Given the description of an element on the screen output the (x, y) to click on. 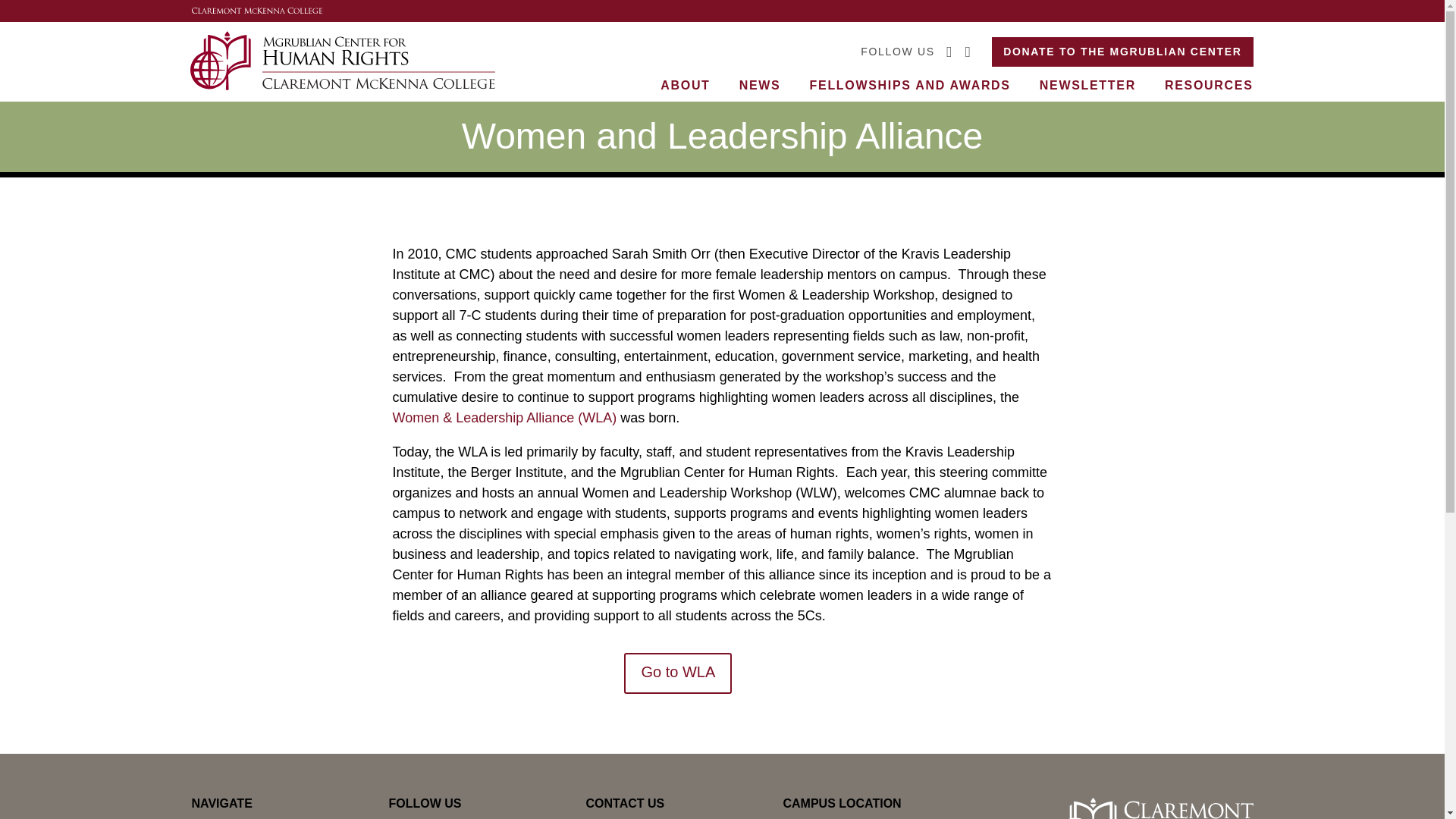
NEWS (759, 84)
ABOUT (685, 84)
Women and Leadership Alliance (505, 421)
RESOURCES (1208, 84)
DONATE TO THE MGRUBLIAN CENTER (1121, 51)
Go to WLA (678, 672)
NEWSLETTER (1087, 84)
FELLOWSHIPS AND AWARDS (909, 84)
